Given the description of an element on the screen output the (x, y) to click on. 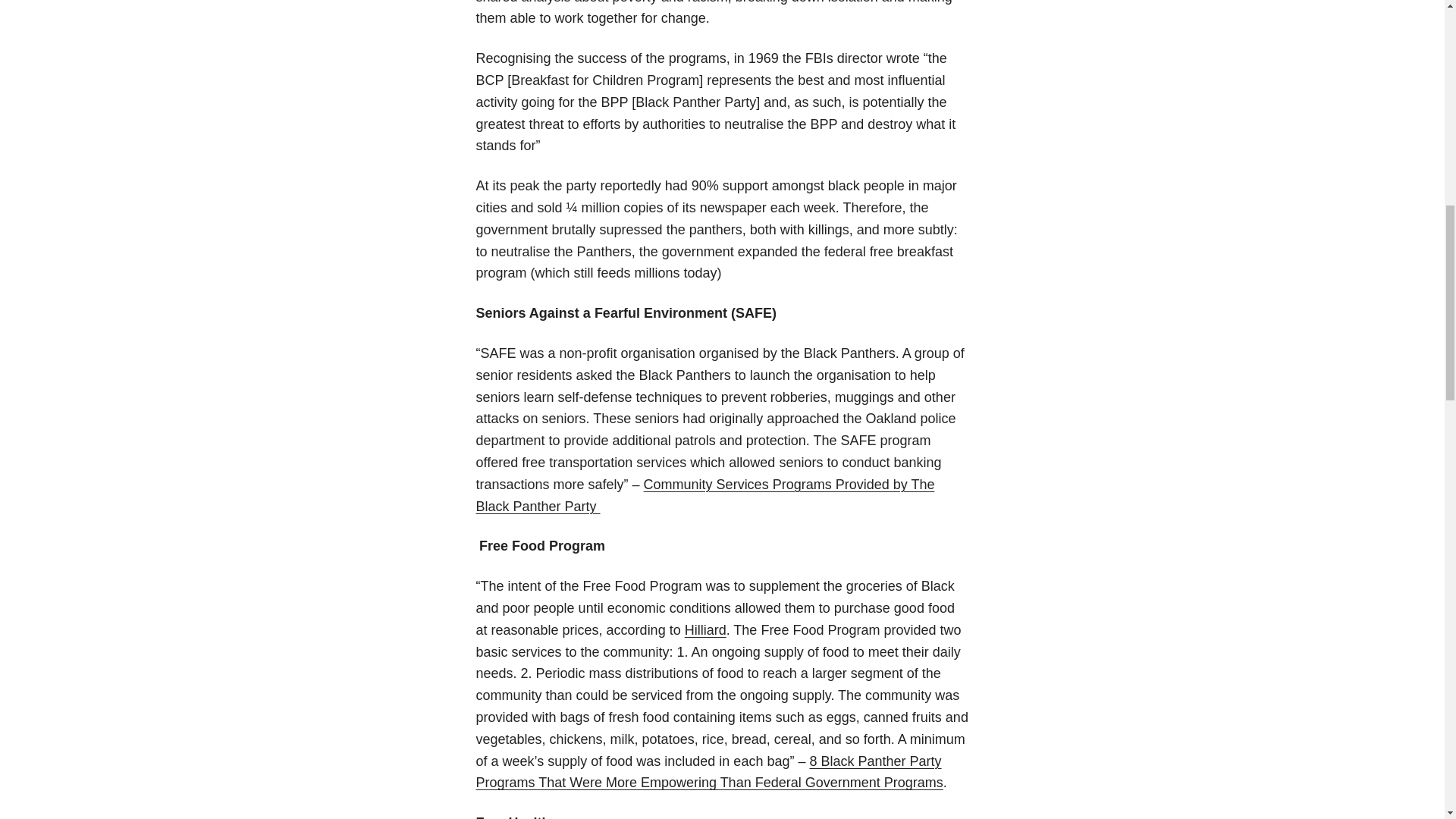
Hilliard (705, 630)
